Given the description of an element on the screen output the (x, y) to click on. 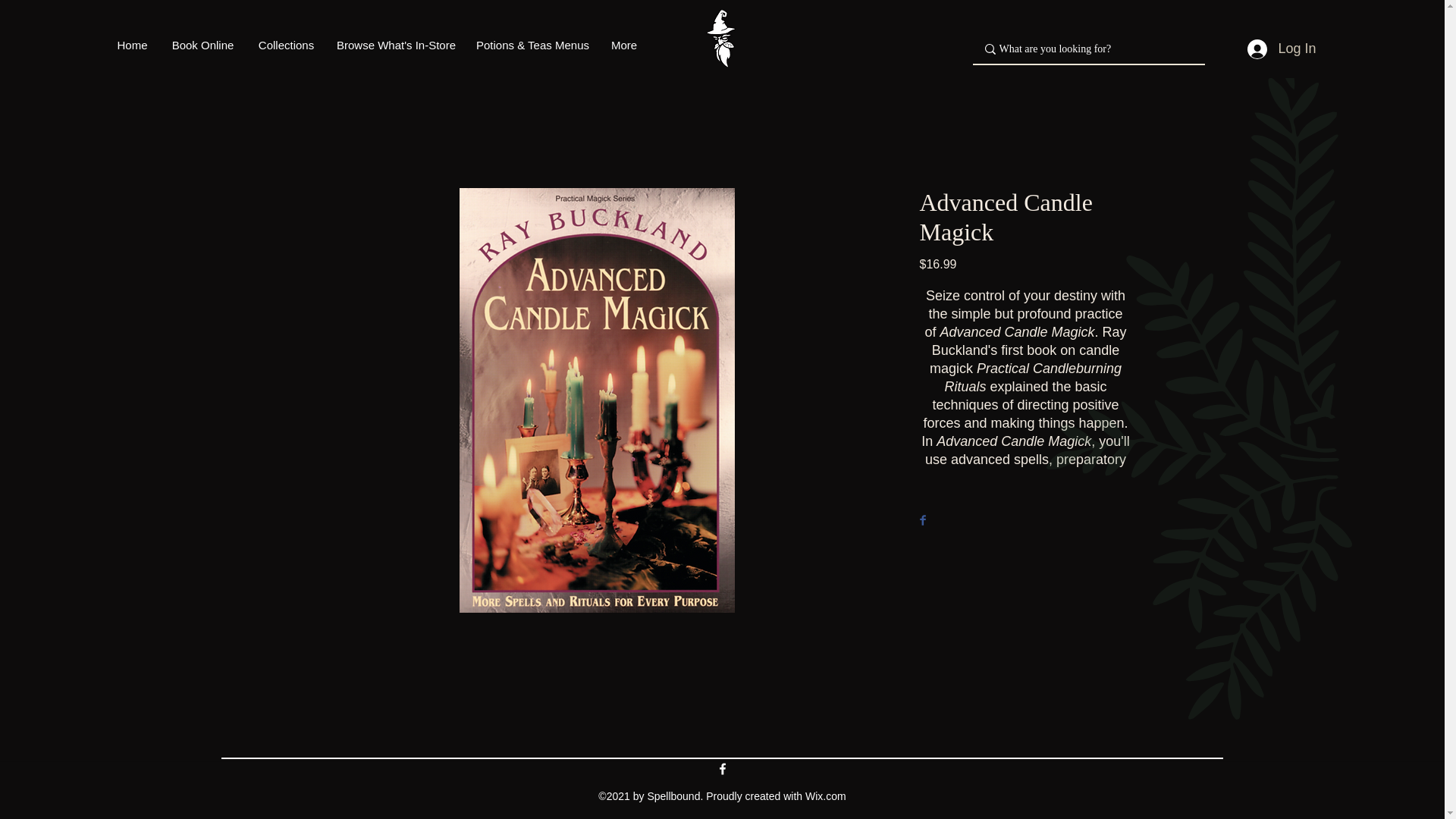
Browse What's In-Store (395, 45)
Home (131, 45)
Book Online (202, 45)
Log In (1281, 49)
